Given the description of an element on the screen output the (x, y) to click on. 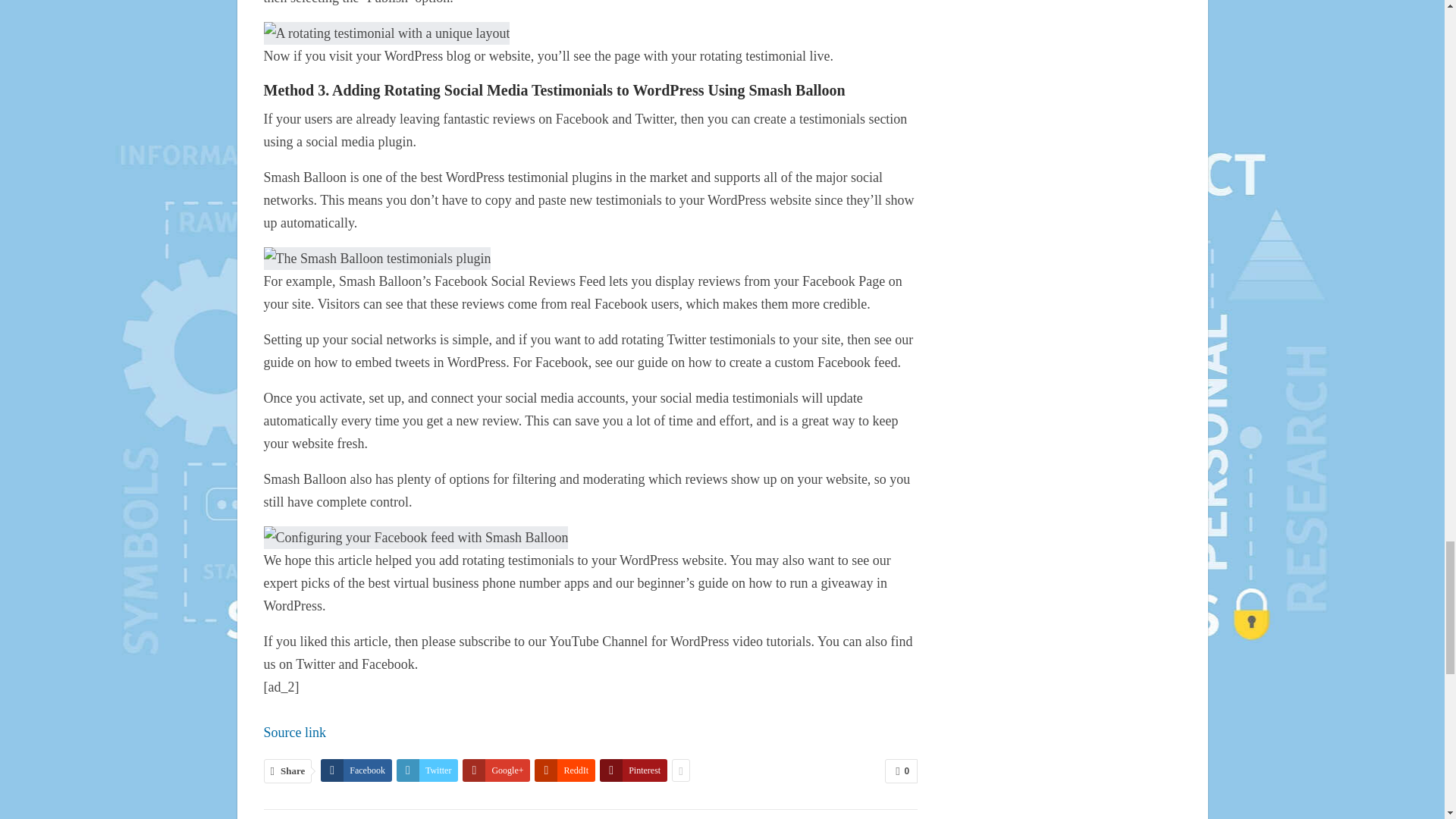
Facebook (355, 770)
Source link (294, 732)
Pinterest (632, 770)
Twitter (427, 770)
0 (901, 770)
ReddIt (564, 770)
